Given the description of an element on the screen output the (x, y) to click on. 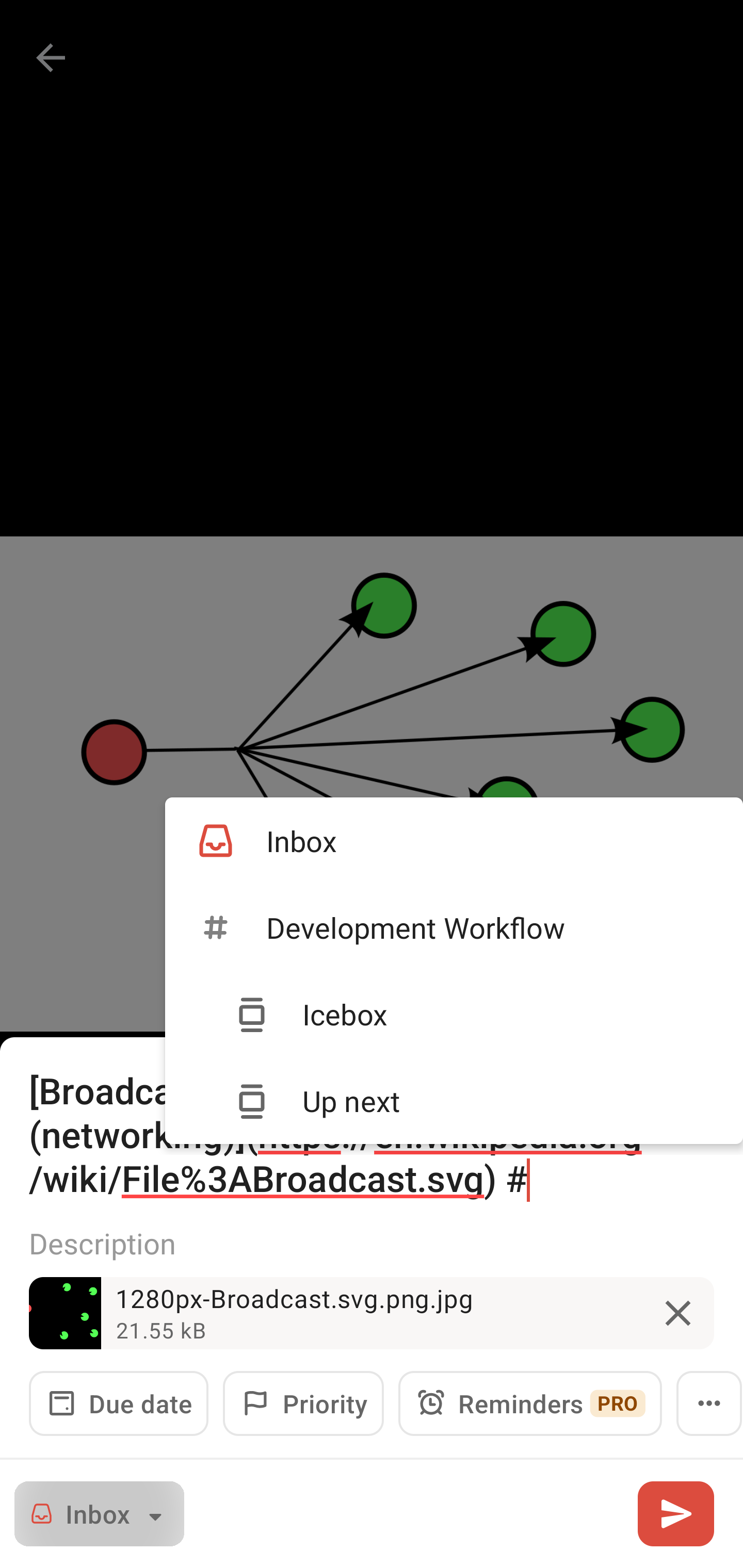
Description (371, 1242)
Remove attachment (677, 1313)
Due date Date (118, 1403)
Priority (303, 1403)
Reminders PRO Reminders (530, 1403)
Open menu (709, 1403)
Inbox Project (99, 1513)
Add (675, 1513)
